Given the description of an element on the screen output the (x, y) to click on. 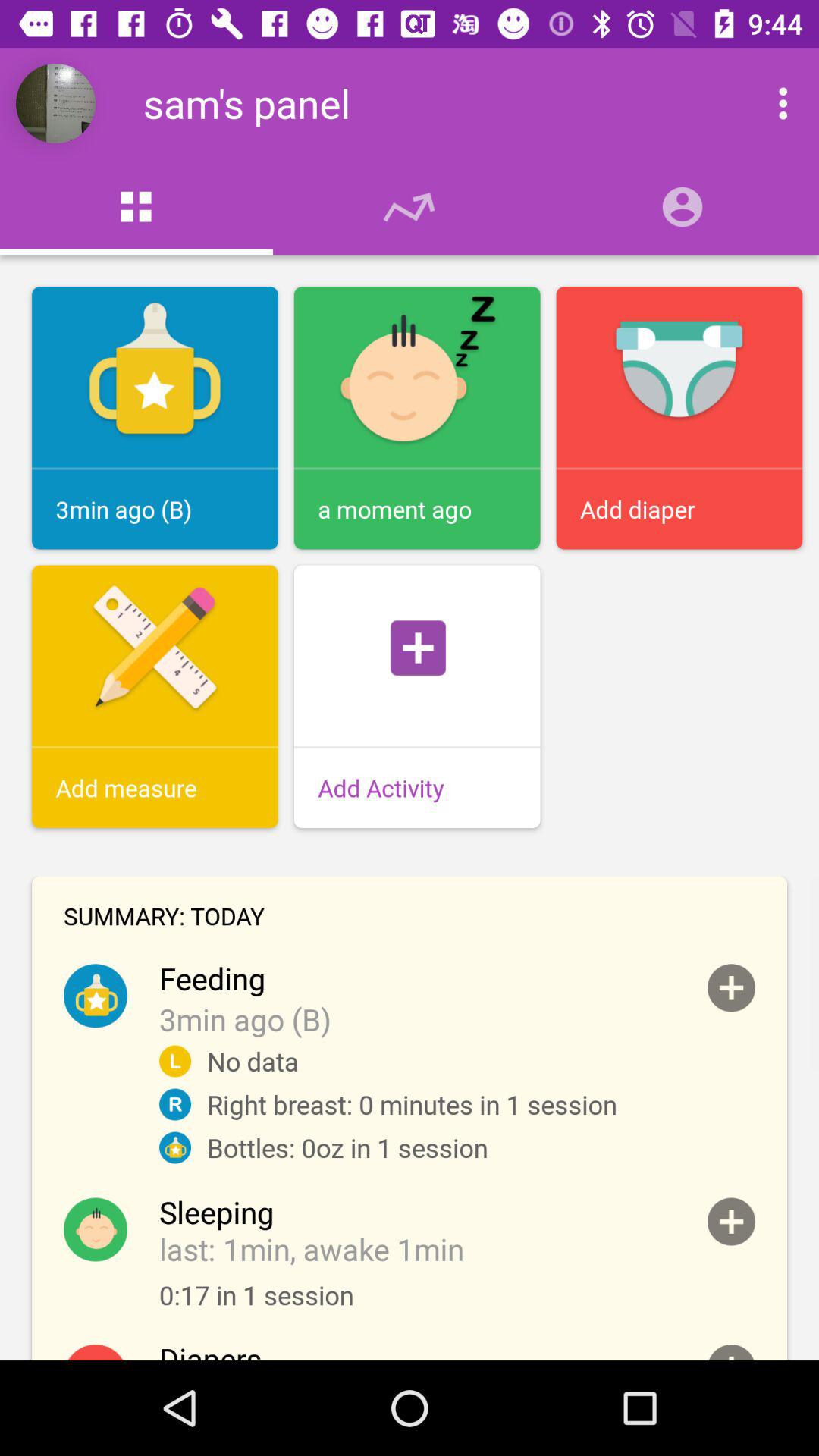
options (767, 103)
